Given the description of an element on the screen output the (x, y) to click on. 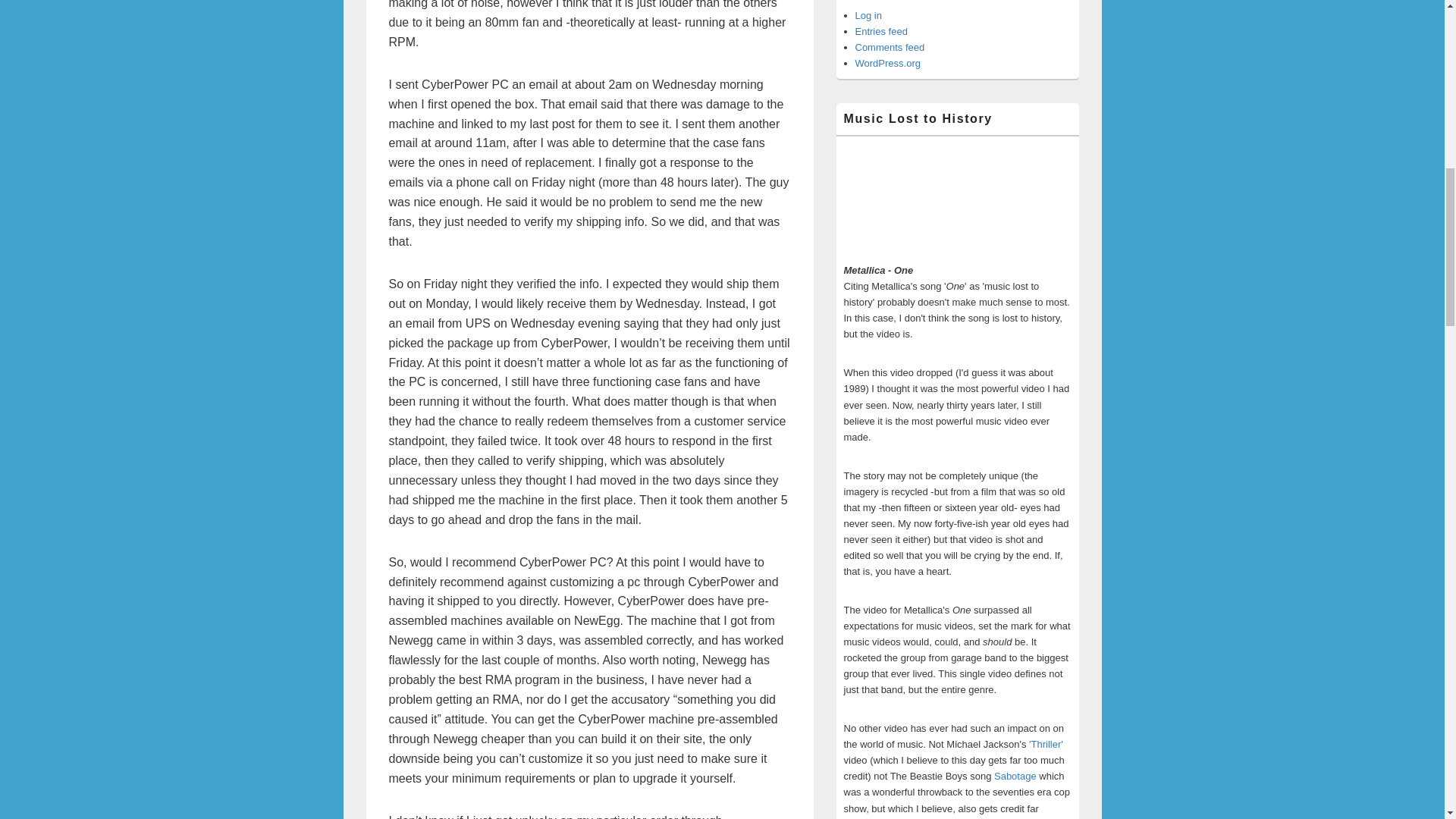
'Thriller' (1045, 744)
Entries feed (881, 30)
Comments feed (890, 47)
Sabotage (1015, 776)
Log in (869, 15)
WordPress.org (888, 62)
